Given the description of an element on the screen output the (x, y) to click on. 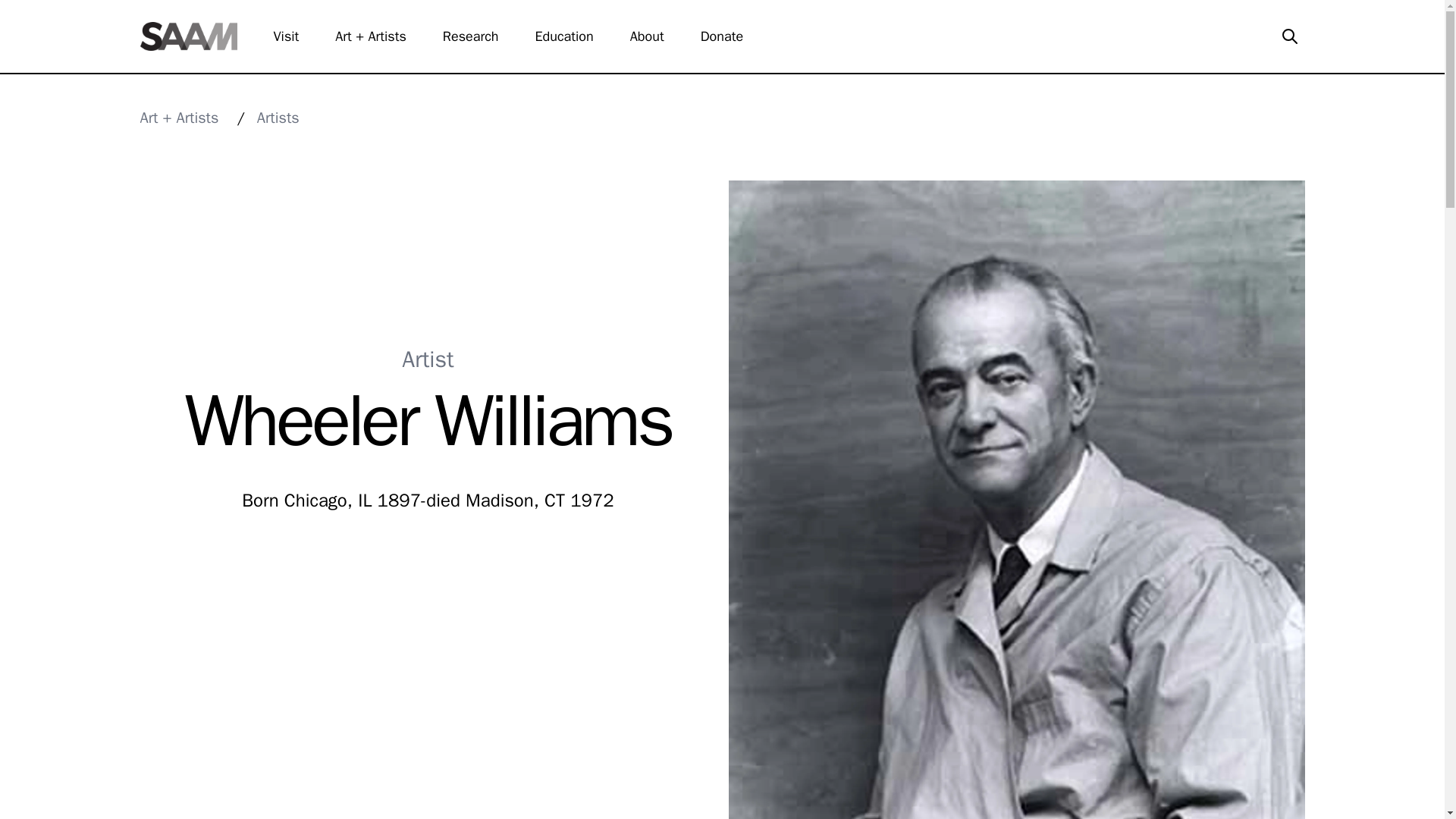
About (656, 35)
Donate (730, 35)
Research (479, 35)
Education (572, 35)
Visit (295, 35)
